Given the description of an element on the screen output the (x, y) to click on. 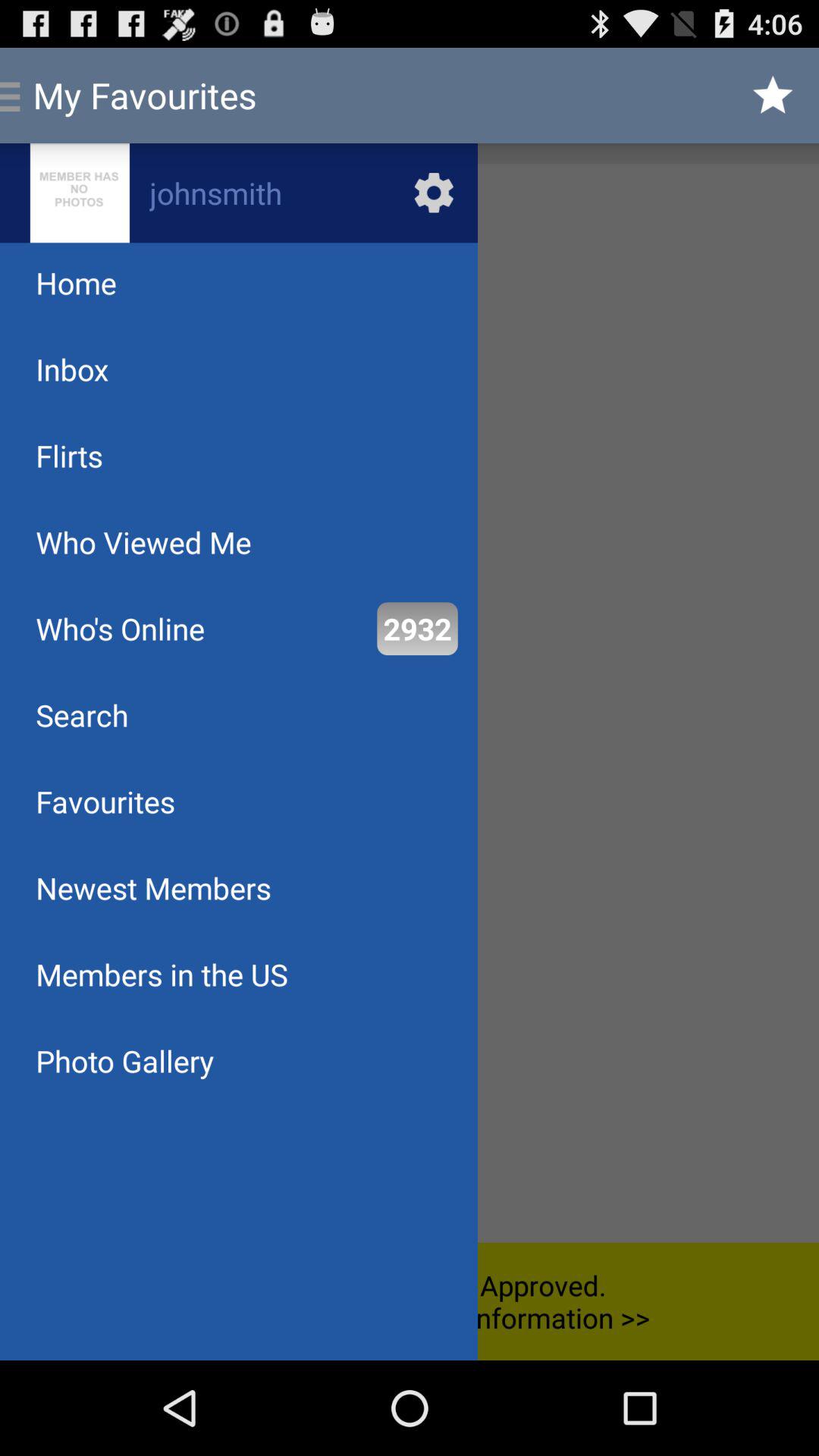
launch the item to the left of the 2932 icon (119, 628)
